Given the description of an element on the screen output the (x, y) to click on. 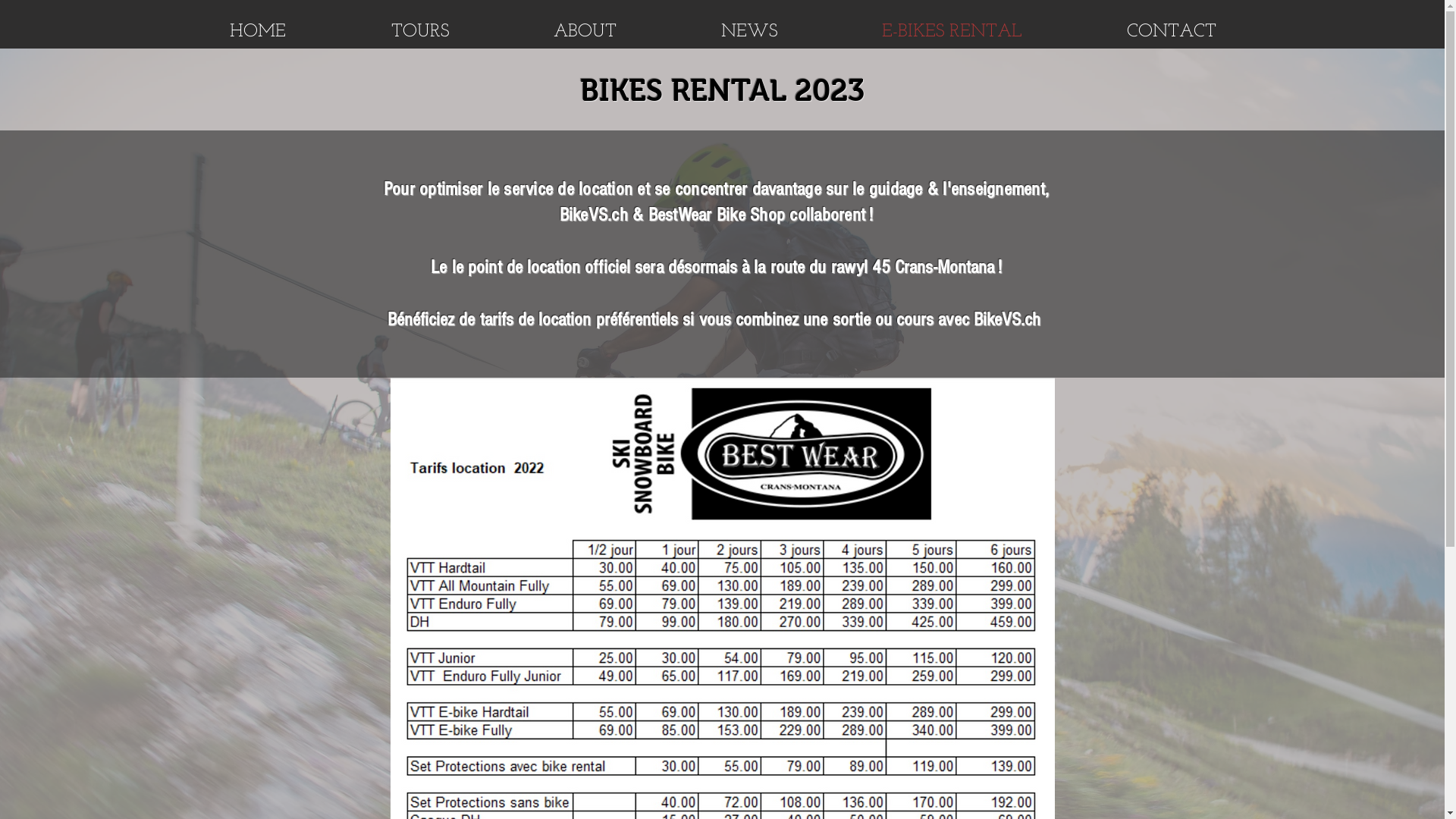
CONTACT Element type: text (1171, 31)
HOME Element type: text (257, 31)
TOURS Element type: text (419, 31)
NEWS Element type: text (748, 31)
ABOUT Element type: text (585, 31)
E-BIKES RENTAL Element type: text (951, 31)
